Given the description of an element on the screen output the (x, y) to click on. 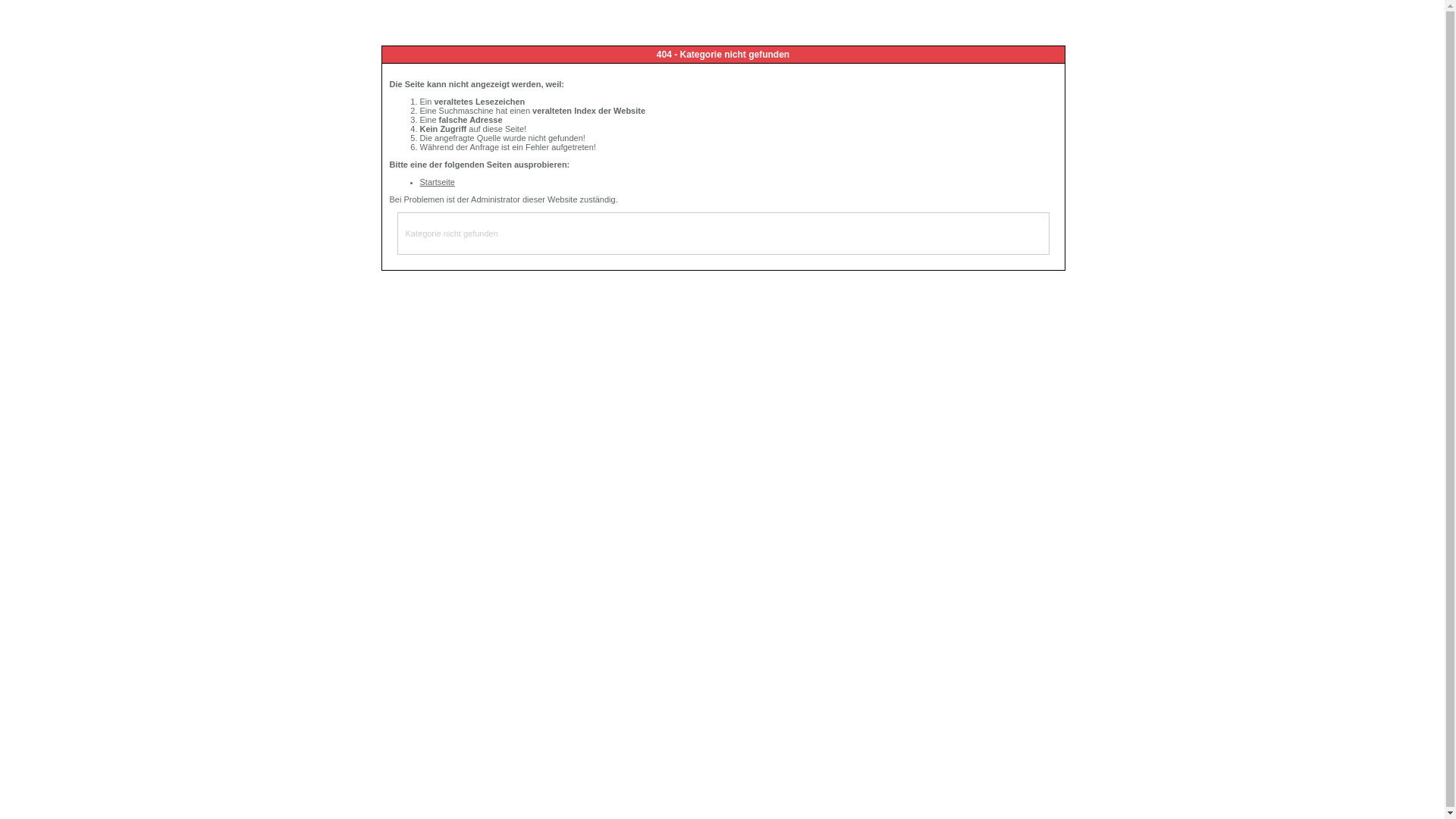
Startseite Element type: text (437, 181)
